Given the description of an element on the screen output the (x, y) to click on. 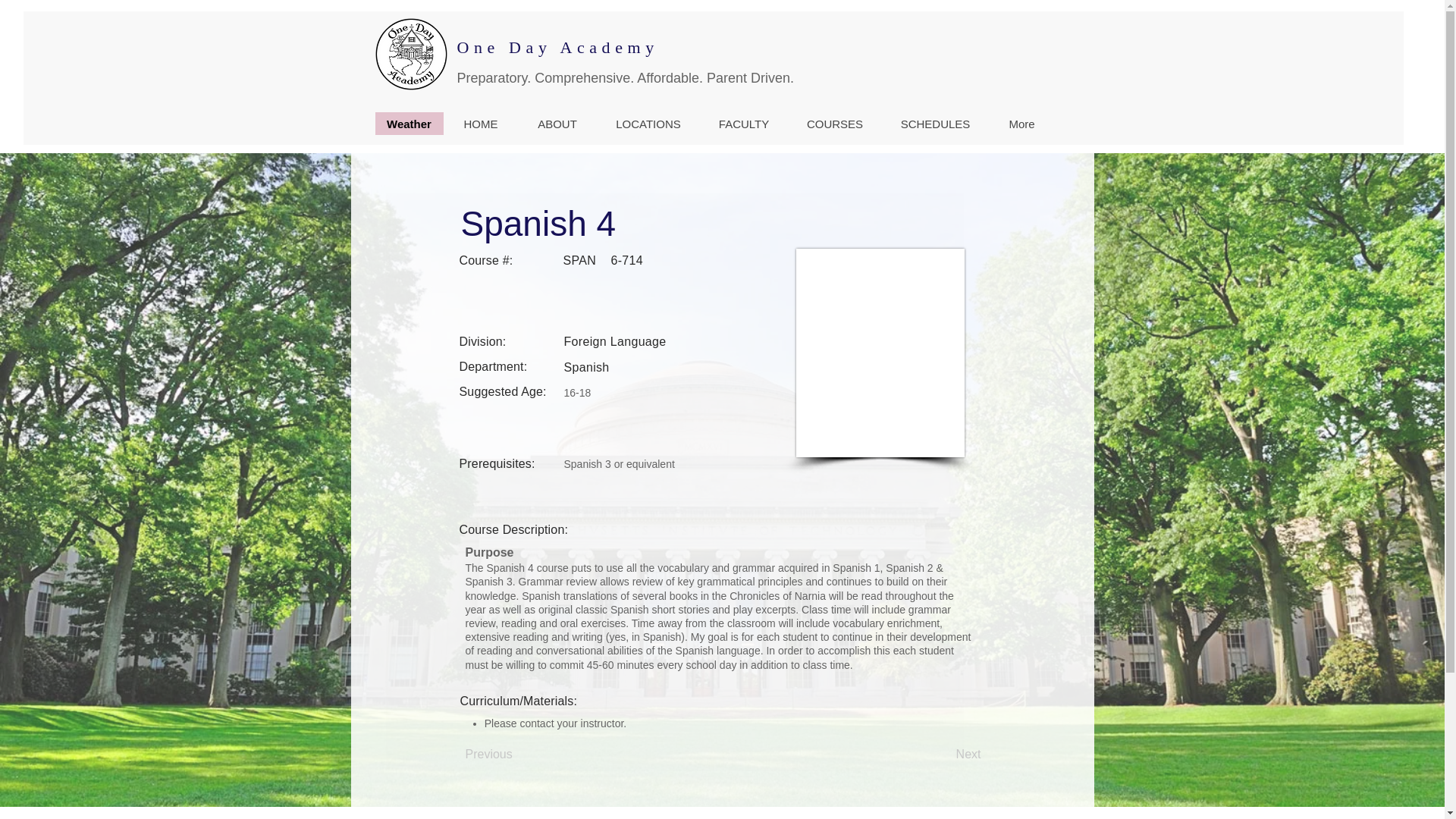
Weather (408, 123)
Contact ODA (1009, 50)
transparent oda logo.png (410, 54)
FACULTY (742, 124)
LOCATIONS (646, 124)
HOME (481, 124)
ABOUT (555, 124)
One Day Academy (557, 46)
